Given the description of an element on the screen output the (x, y) to click on. 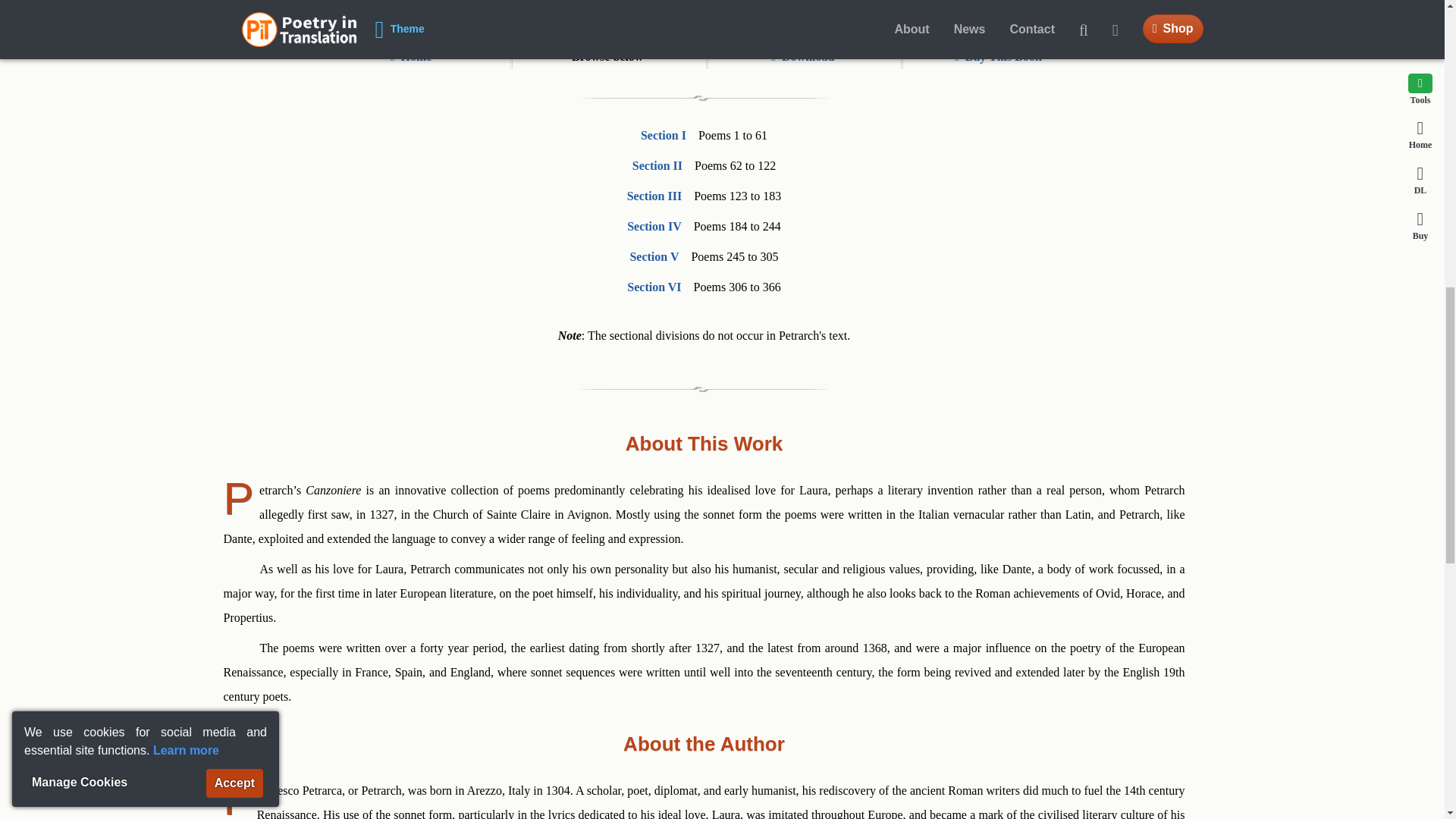
Section I (662, 134)
Section III (654, 195)
  Download (802, 56)
Section II (656, 164)
  Buy This Book (998, 56)
Section VI (654, 286)
  Home (411, 56)
Section IV (654, 226)
Section V (653, 256)
